Given the description of an element on the screen output the (x, y) to click on. 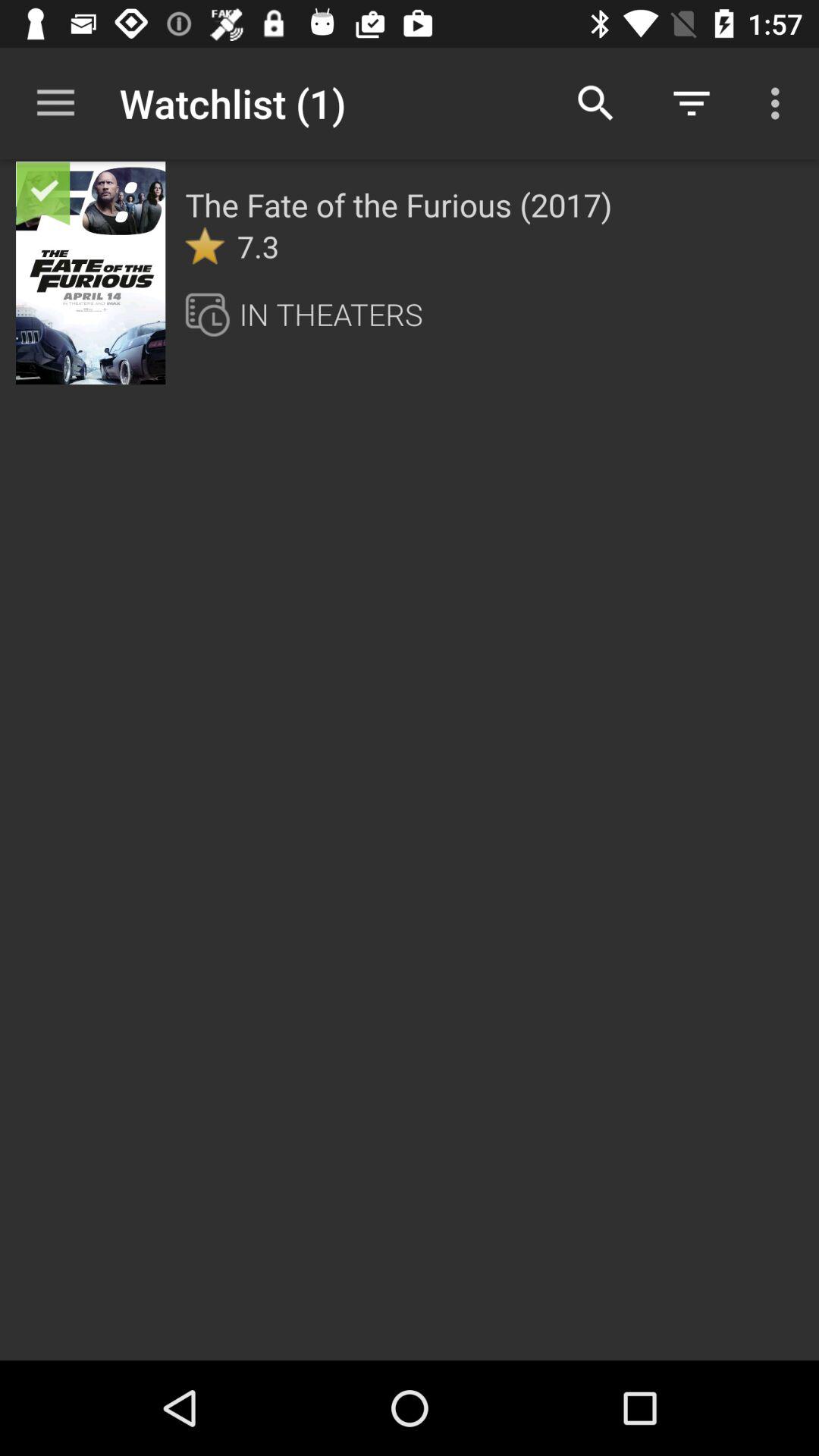
open item below the 7.3 (330, 314)
